Given the description of an element on the screen output the (x, y) to click on. 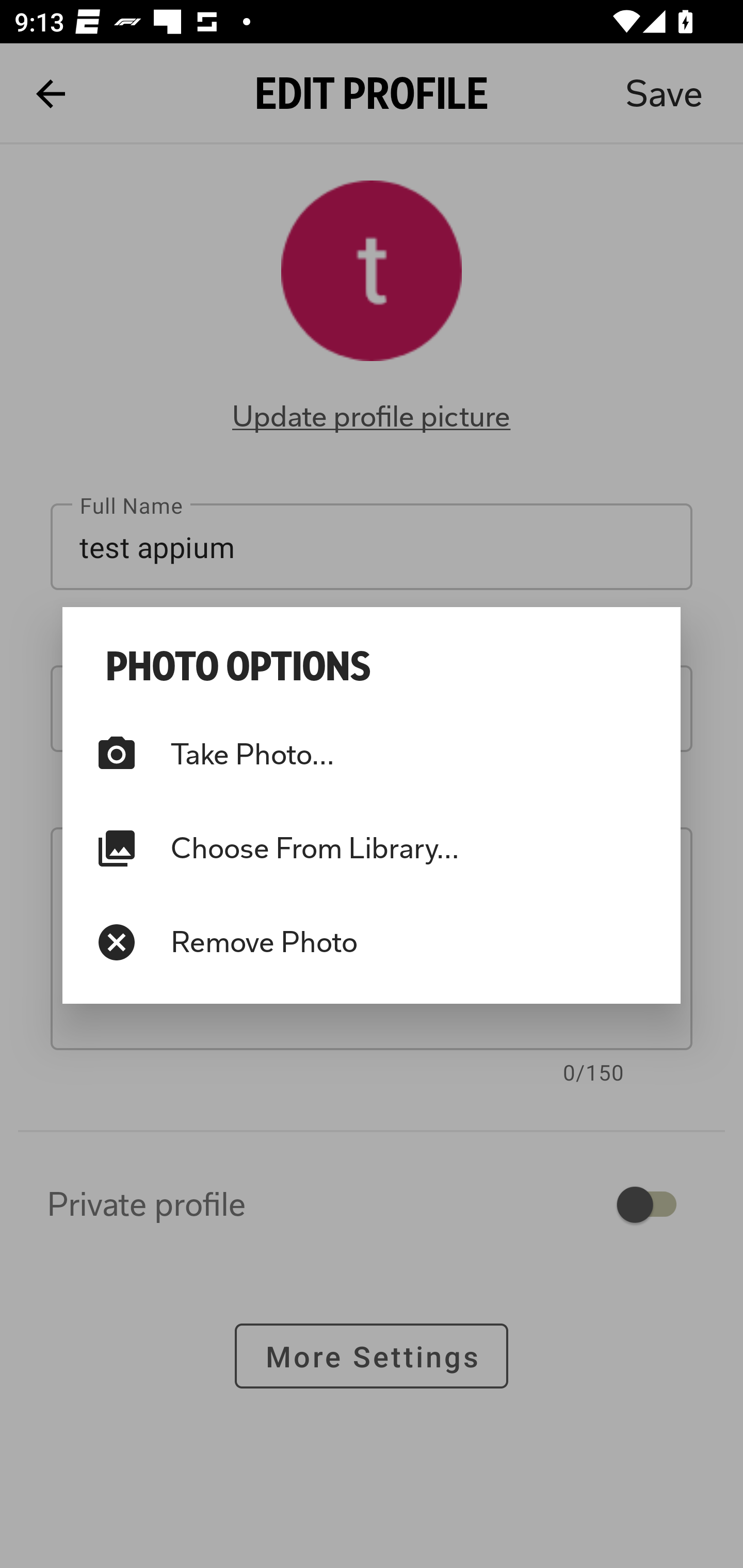
Take Photo… (371, 754)
Choose From Library… (371, 848)
Remove Photo (371, 942)
